Given the description of an element on the screen output the (x, y) to click on. 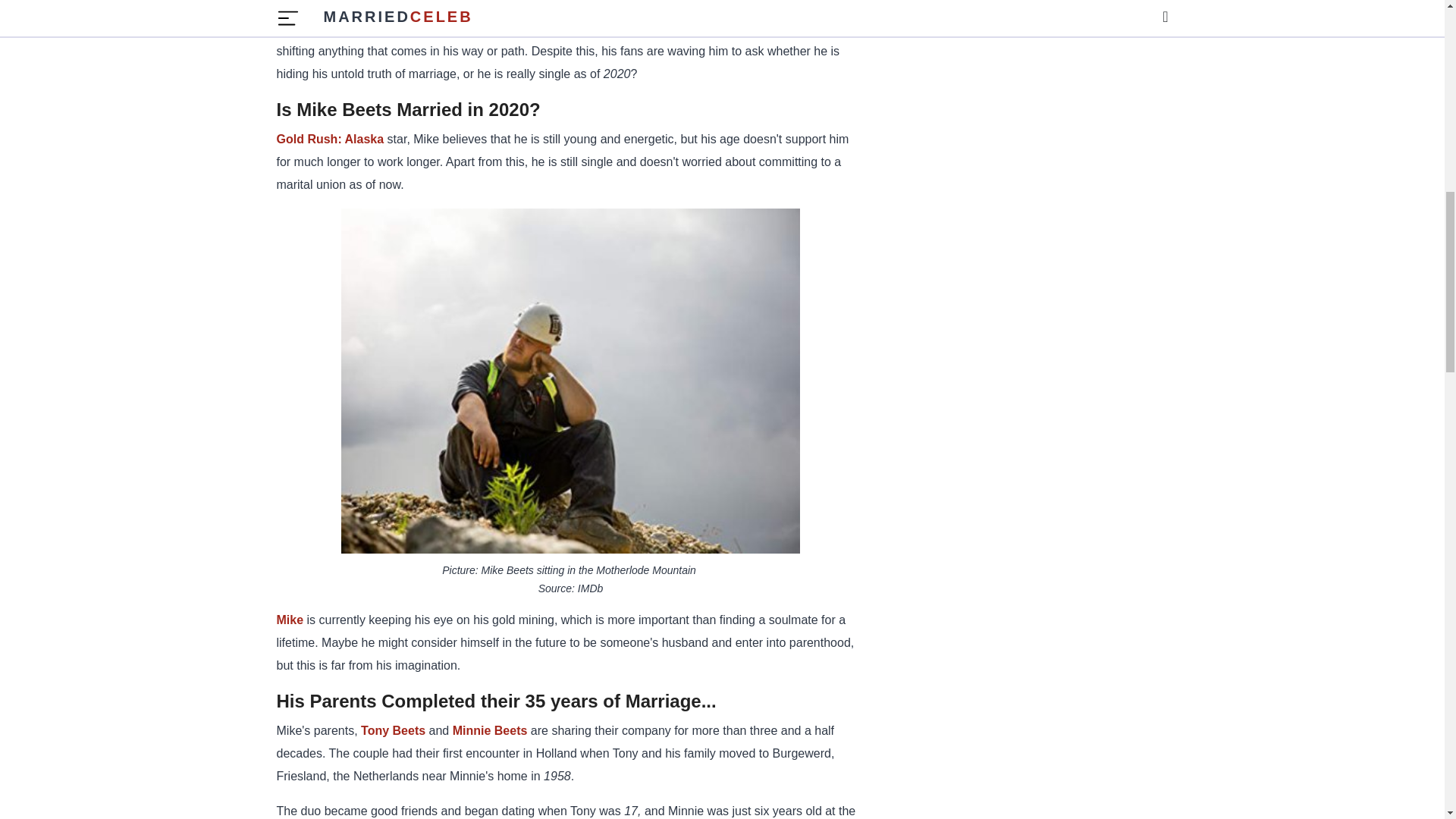
Gold Rush: Alaska (330, 138)
Tony Beets (393, 730)
Mike (289, 619)
Minnie Beets (489, 730)
